Given the description of an element on the screen output the (x, y) to click on. 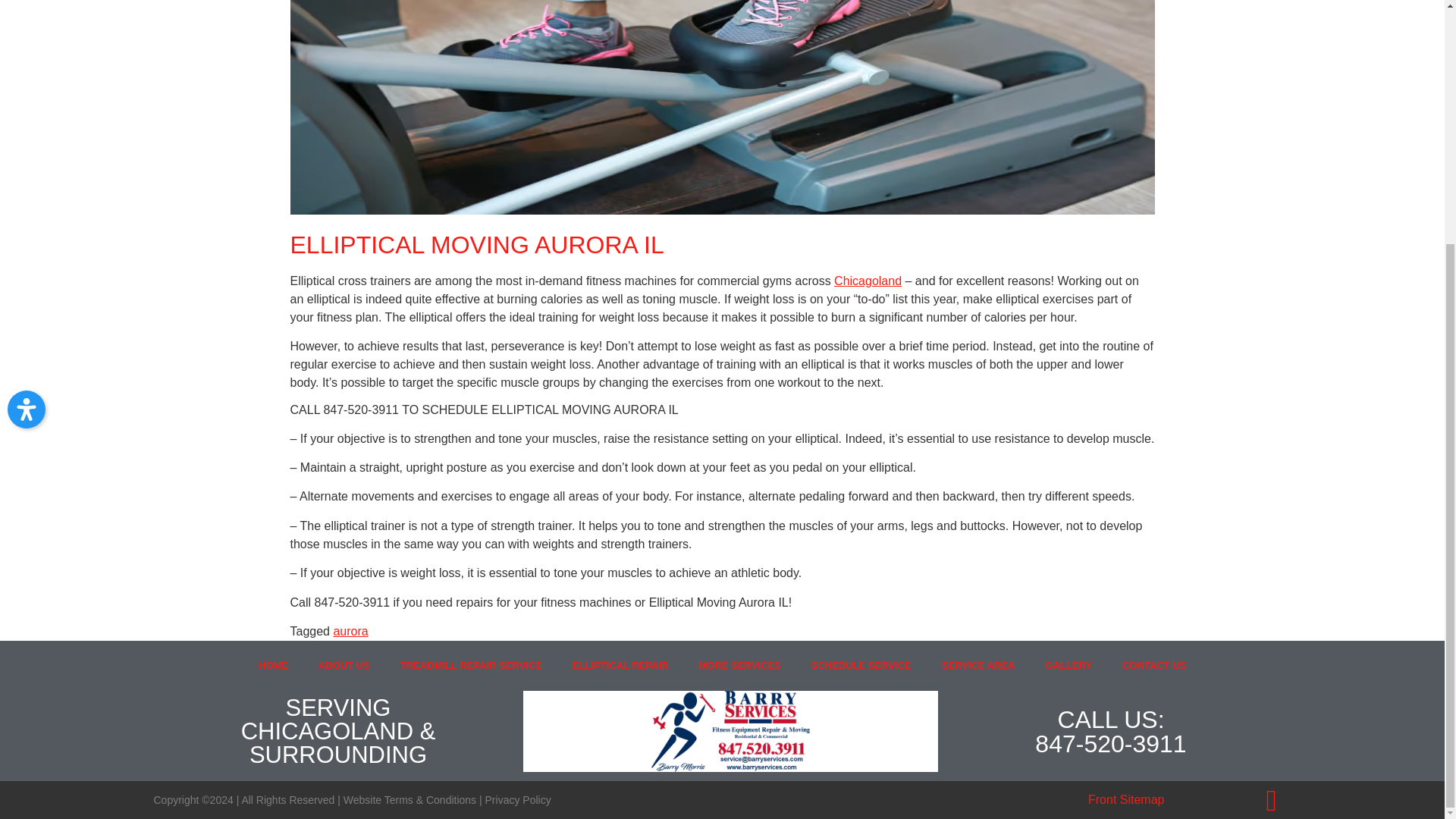
ELLIPTICAL REPAIR (620, 665)
aurora (350, 631)
Chicagoland (867, 280)
TREADMILL REPAIR SERVICE (471, 665)
ABOUT US (343, 665)
HOME (272, 665)
